Given the description of an element on the screen output the (x, y) to click on. 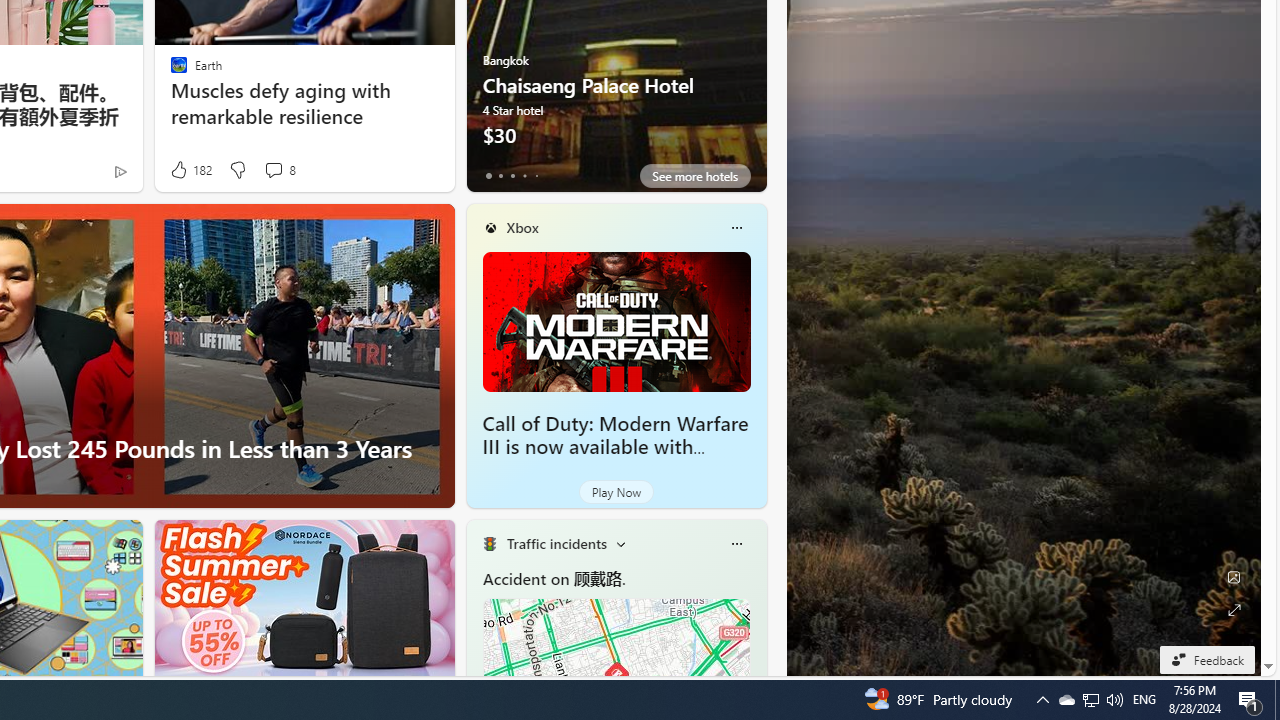
Class: icon-img (736, 543)
View comments 8 Comment (279, 170)
Edit Background (1233, 577)
tab-1 (500, 175)
tab-0 (488, 175)
